Given the description of an element on the screen output the (x, y) to click on. 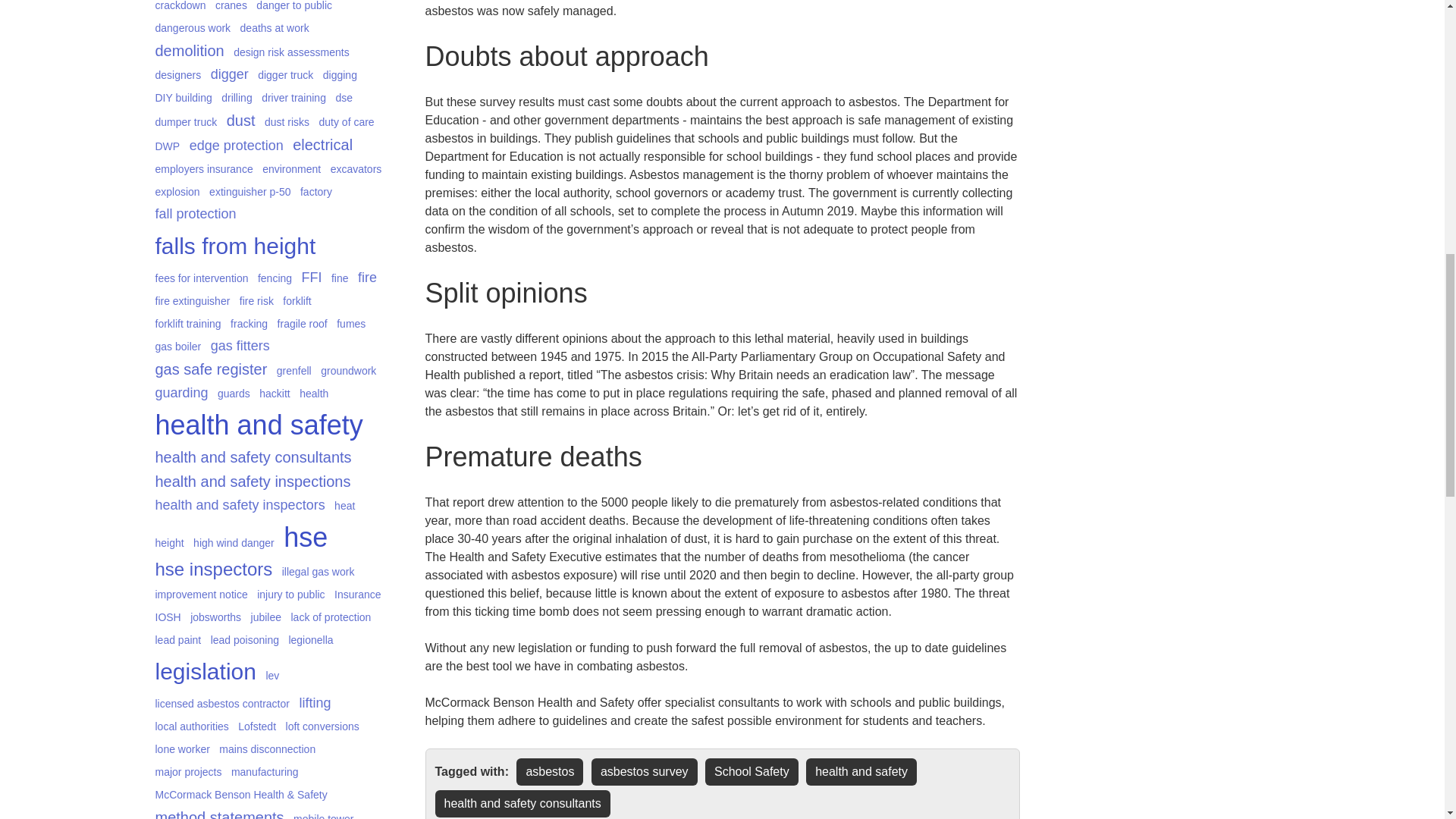
crackdown (179, 7)
